Given the description of an element on the screen output the (x, y) to click on. 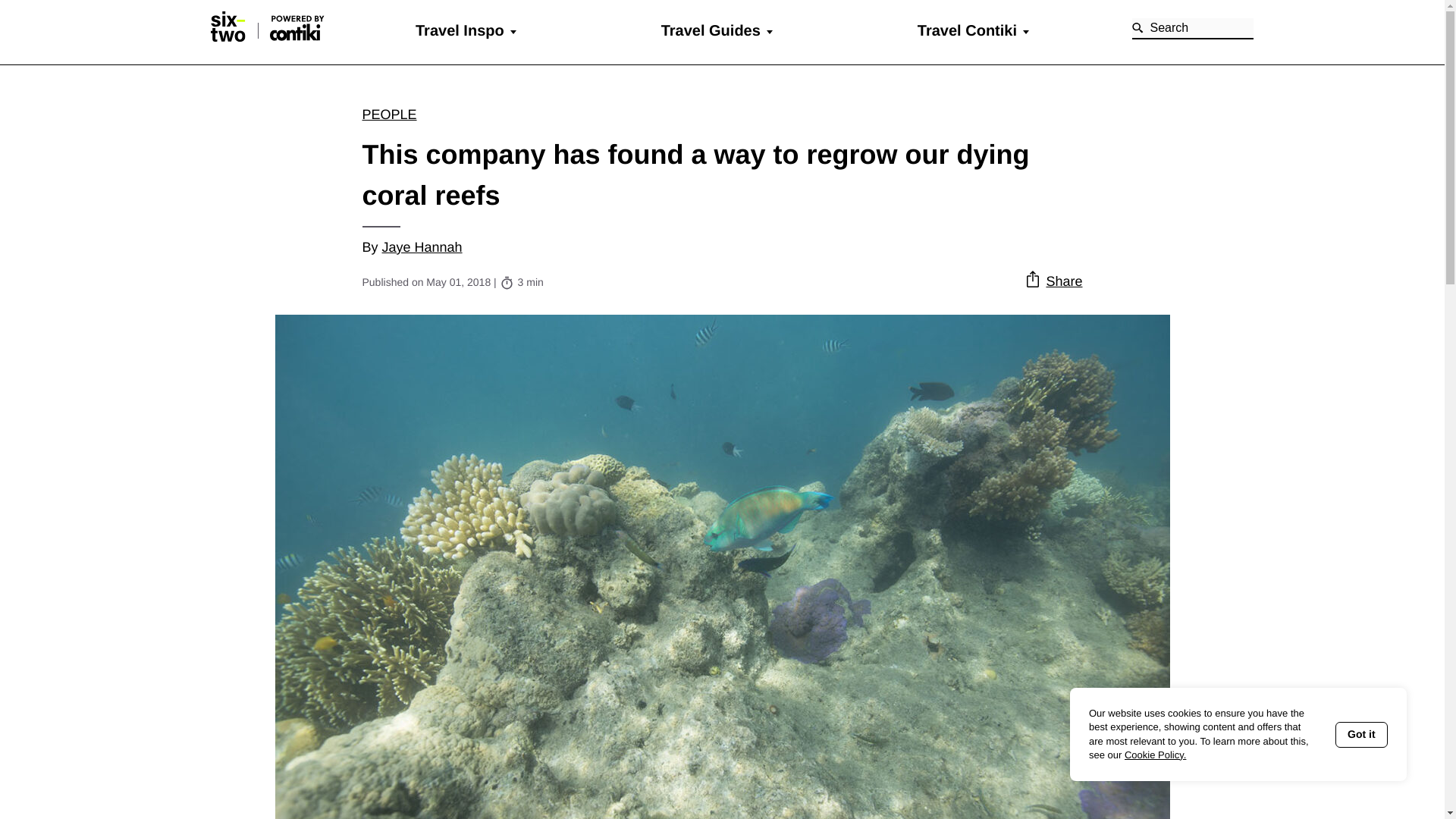
Travel Guides (710, 30)
Travel Contiki (966, 30)
Travel Inspo (458, 30)
